Given the description of an element on the screen output the (x, y) to click on. 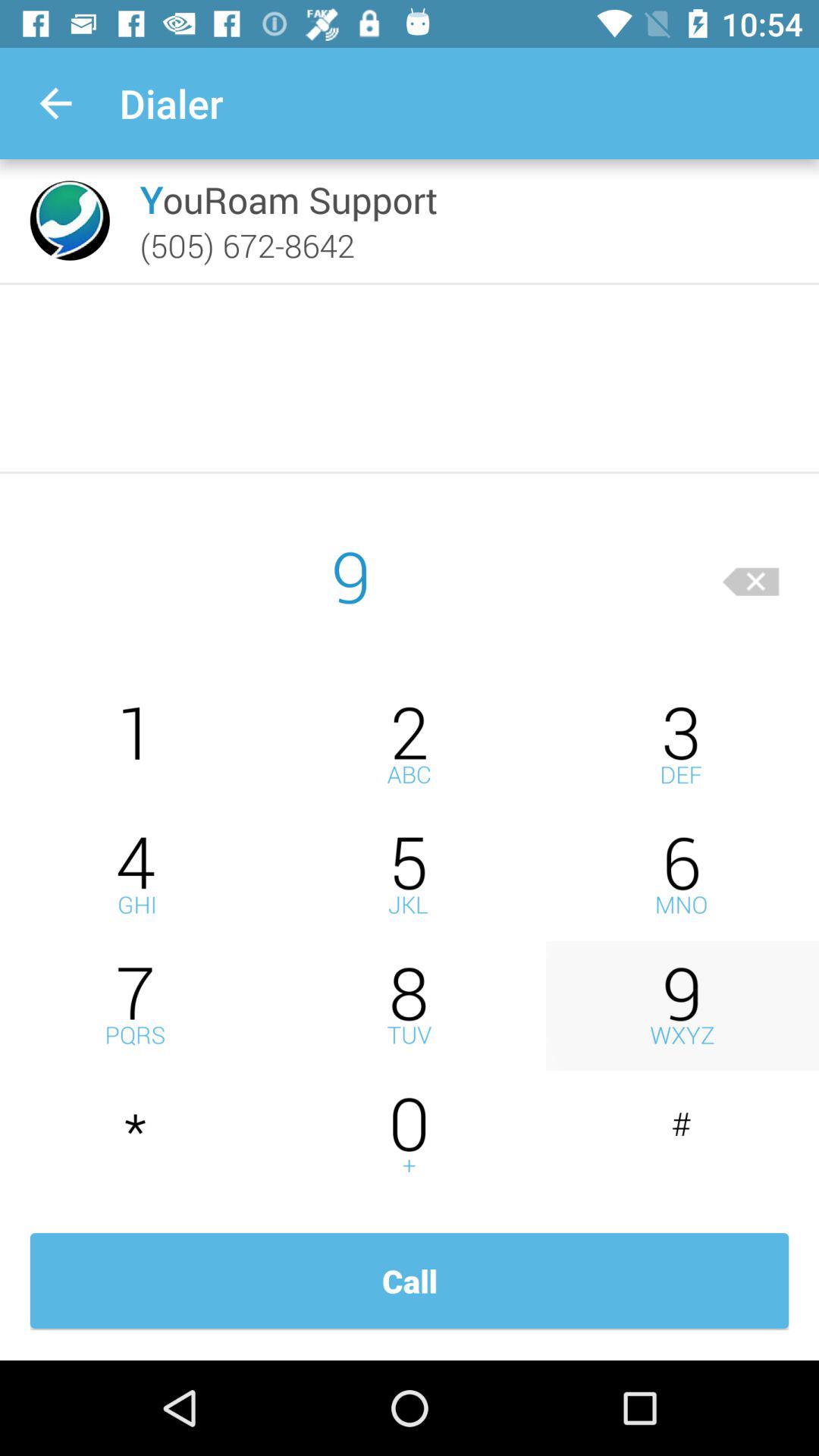
select 4 (136, 875)
